Given the description of an element on the screen output the (x, y) to click on. 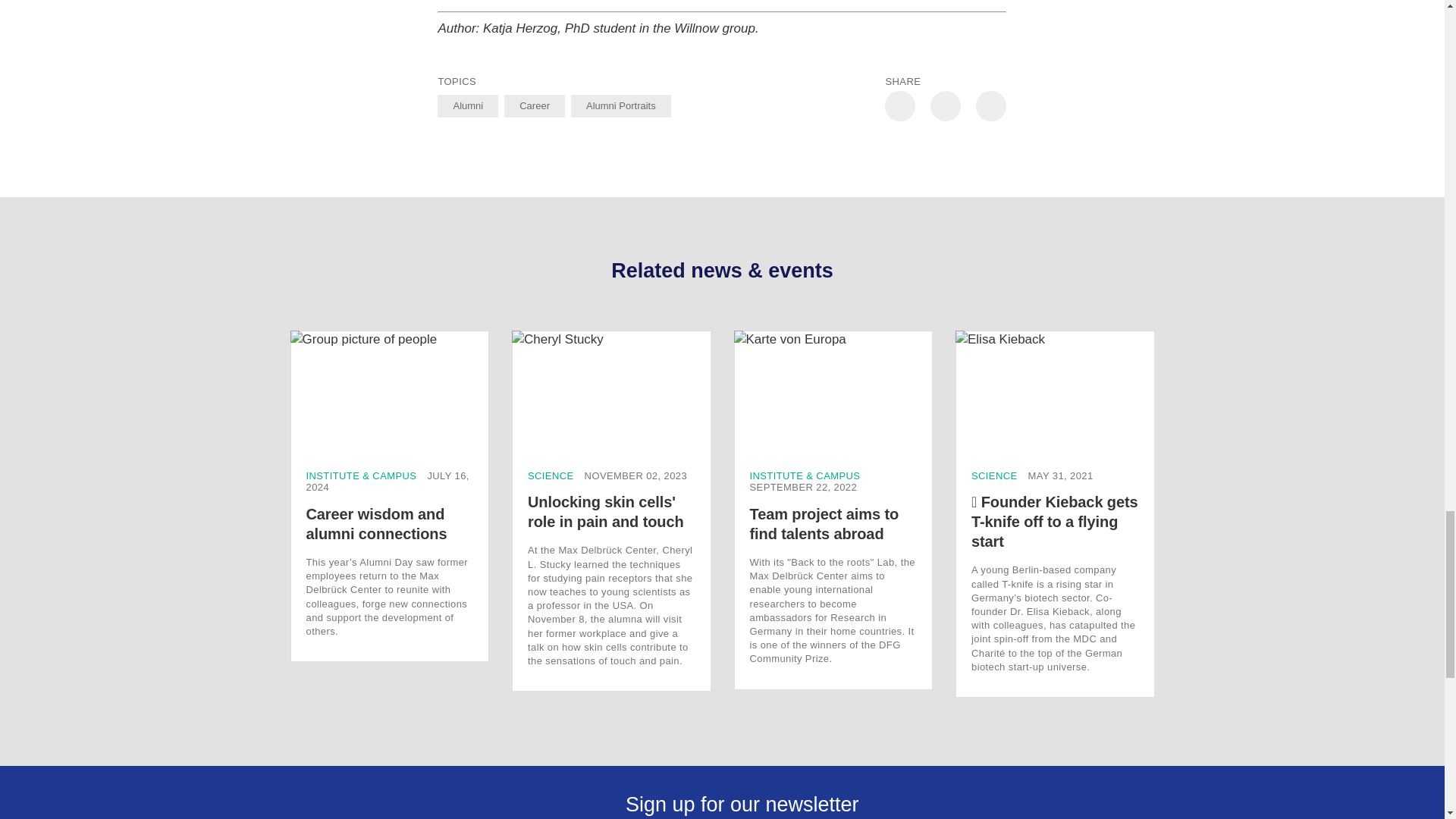
Share via X (900, 105)
Share via Facebook (945, 105)
Share via Email (990, 105)
